Given the description of an element on the screen output the (x, y) to click on. 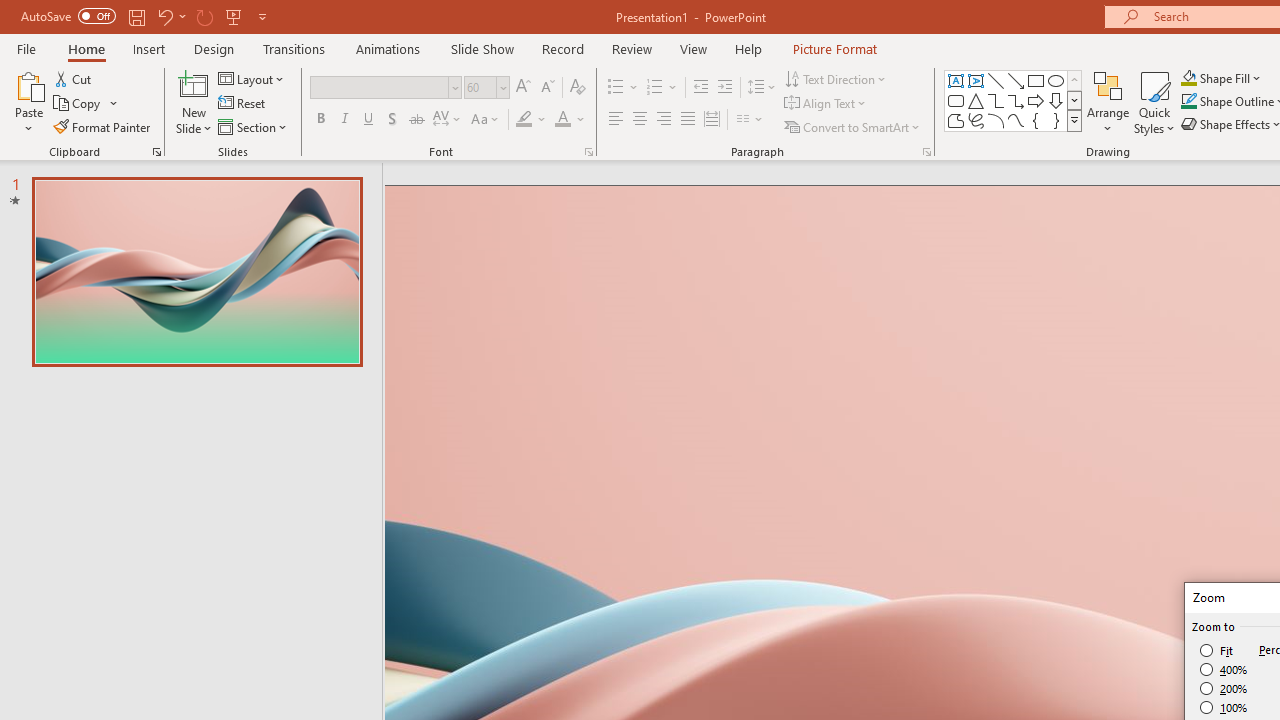
100% (1224, 707)
